Given the description of an element on the screen output the (x, y) to click on. 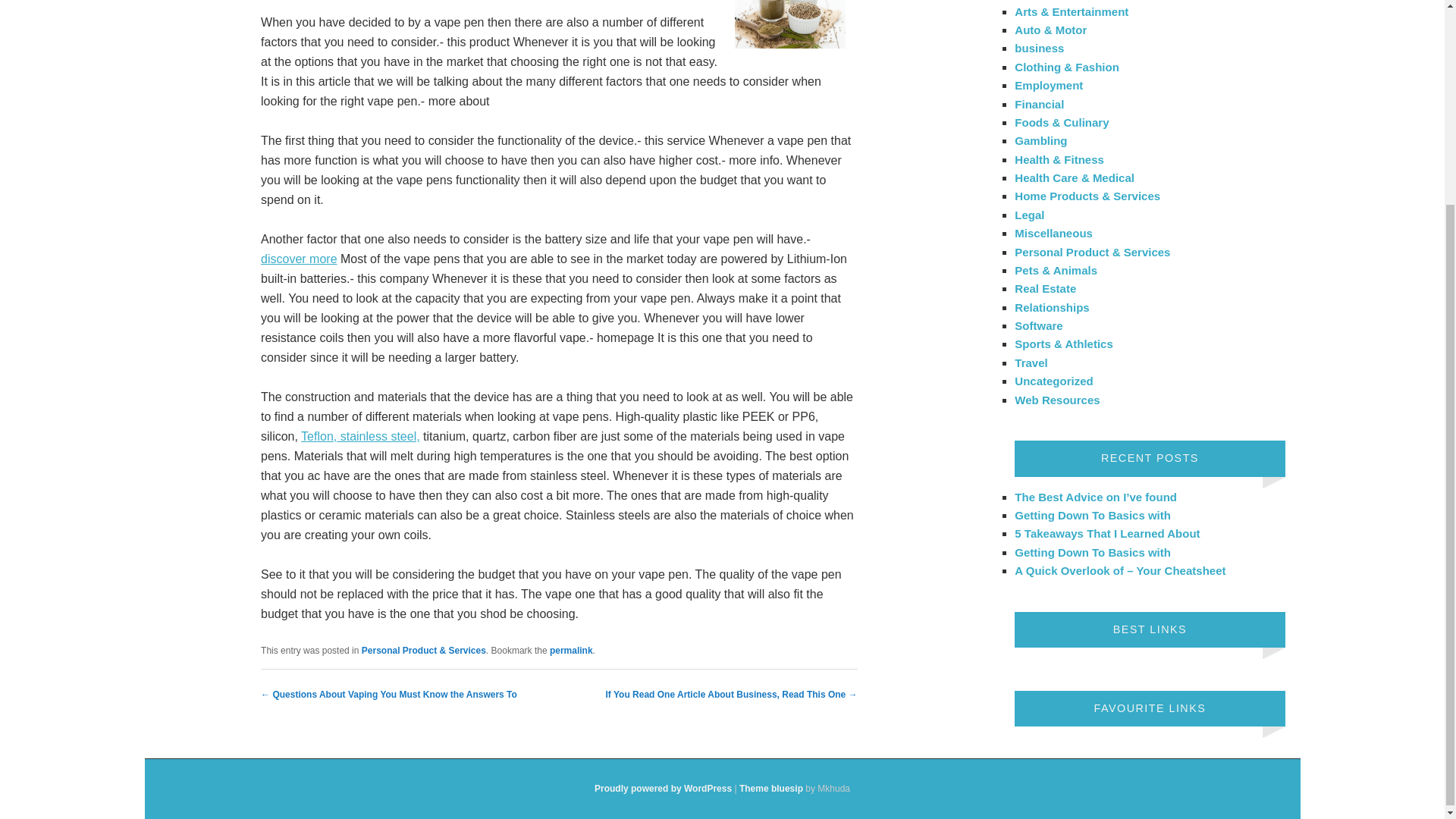
Gambling (1040, 140)
Real Estate (1044, 287)
business (1039, 47)
Employment (1048, 84)
Miscellaneous (1053, 232)
Software (1038, 325)
Teflon, stainless steel, (360, 436)
A Semantic Personal Publishing Platform (663, 787)
Uncategorized (1053, 380)
Mkhuda (771, 787)
